Given the description of an element on the screen output the (x, y) to click on. 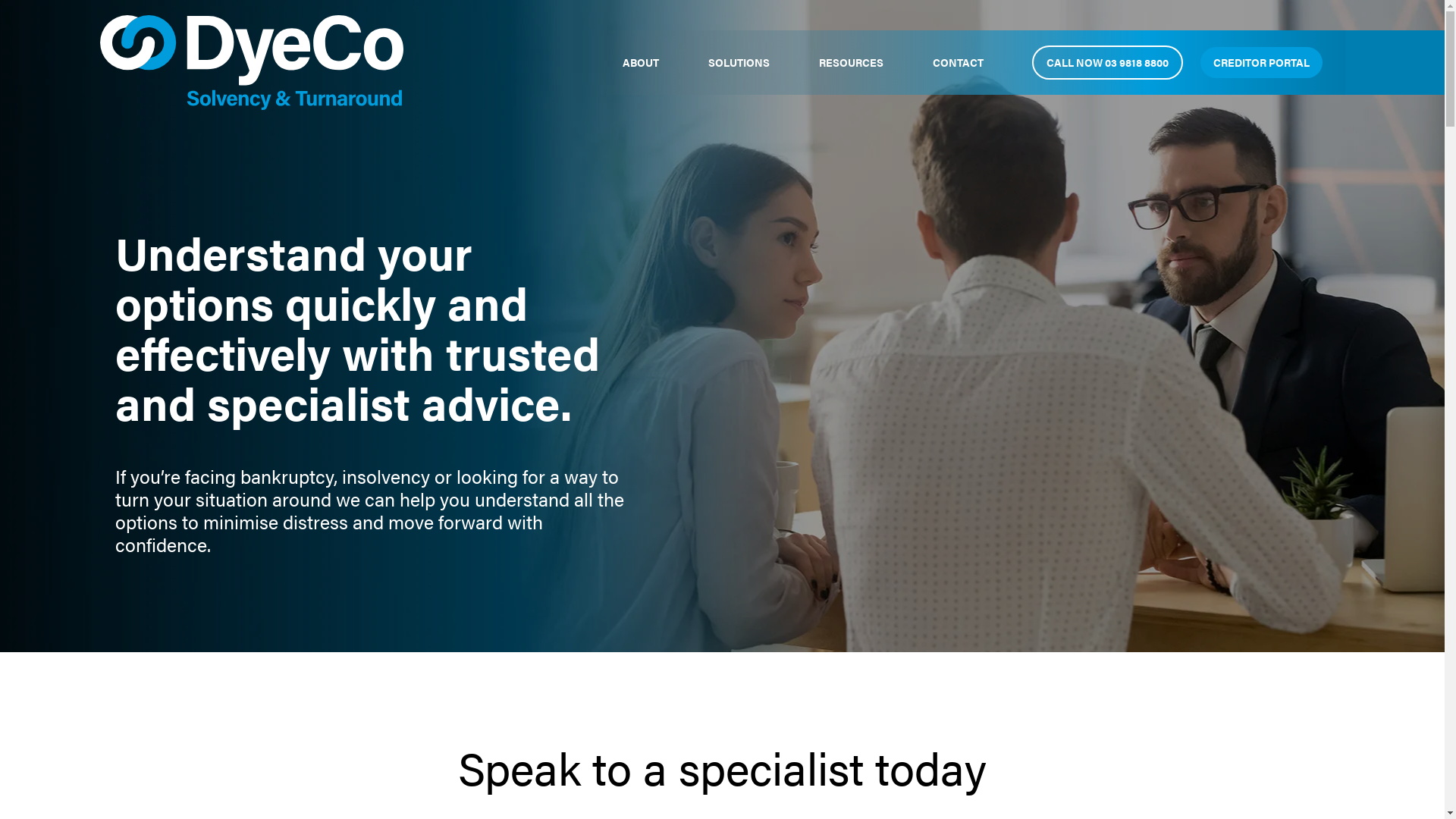
CREDITOR PORTAL Element type: text (1260, 62)
RESOURCES Element type: text (850, 62)
SOLUTIONS Element type: text (738, 62)
ABOUT Element type: text (639, 62)
CONTACT Element type: text (957, 62)
CALL NOW 03 9818 8800 Element type: text (1106, 62)
